Given the description of an element on the screen output the (x, y) to click on. 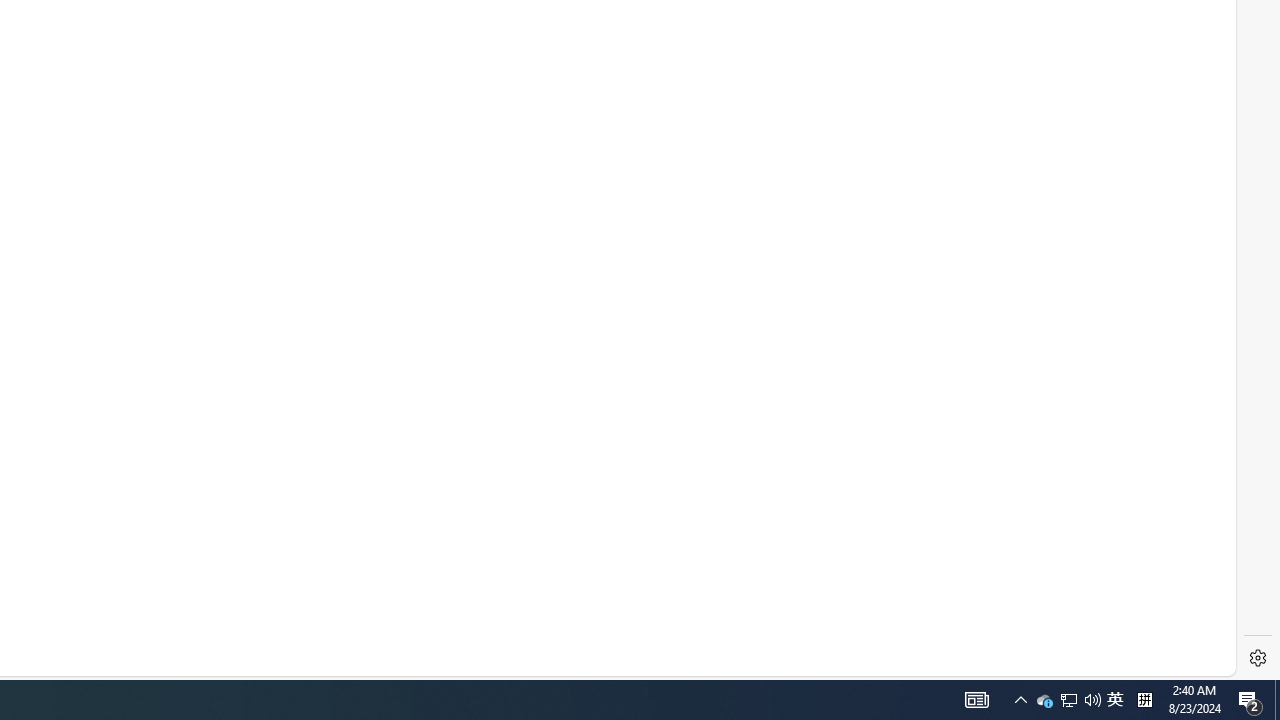
Terms of use (284, 632)
Company news Company (562, 403)
Privacy at Microsoft Company (572, 436)
Diversity and inclusion Company (579, 500)
Trademarks (358, 629)
